Given the description of an element on the screen output the (x, y) to click on. 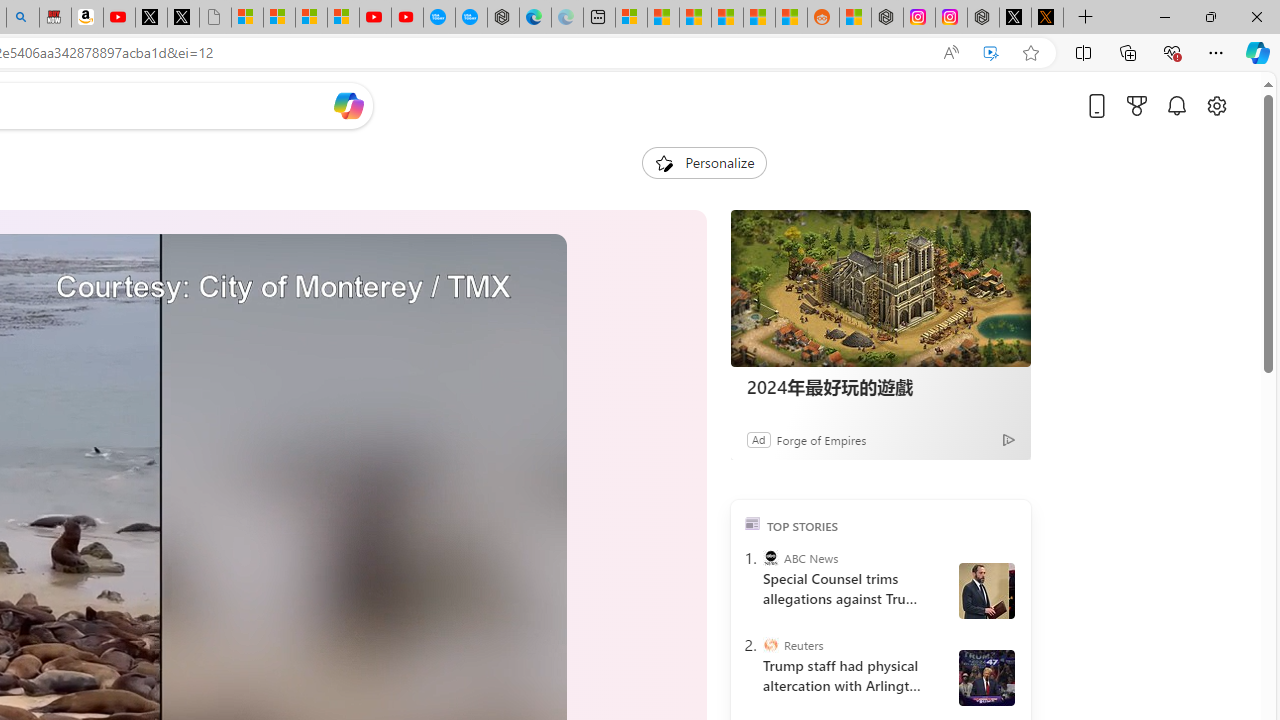
Open settings (1216, 105)
Shanghai, China hourly forecast | Microsoft Weather (694, 17)
Shanghai, China Weather trends | Microsoft Weather (791, 17)
Gloom - YouTube (374, 17)
